Given the description of an element on the screen output the (x, y) to click on. 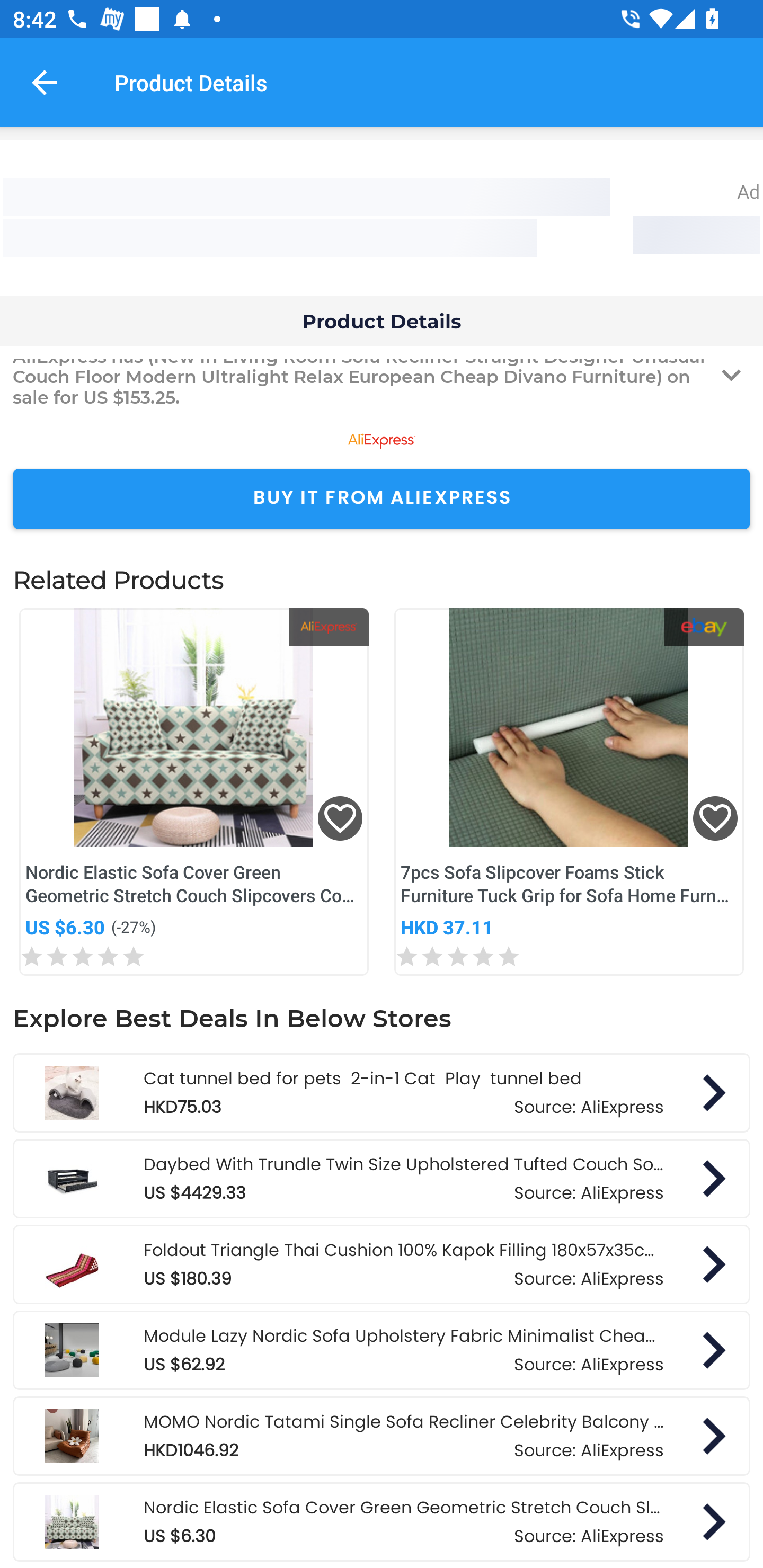
Navigate up (44, 82)
BUY IT FROM ALIEXPRESS (381, 499)
